Given the description of an element on the screen output the (x, y) to click on. 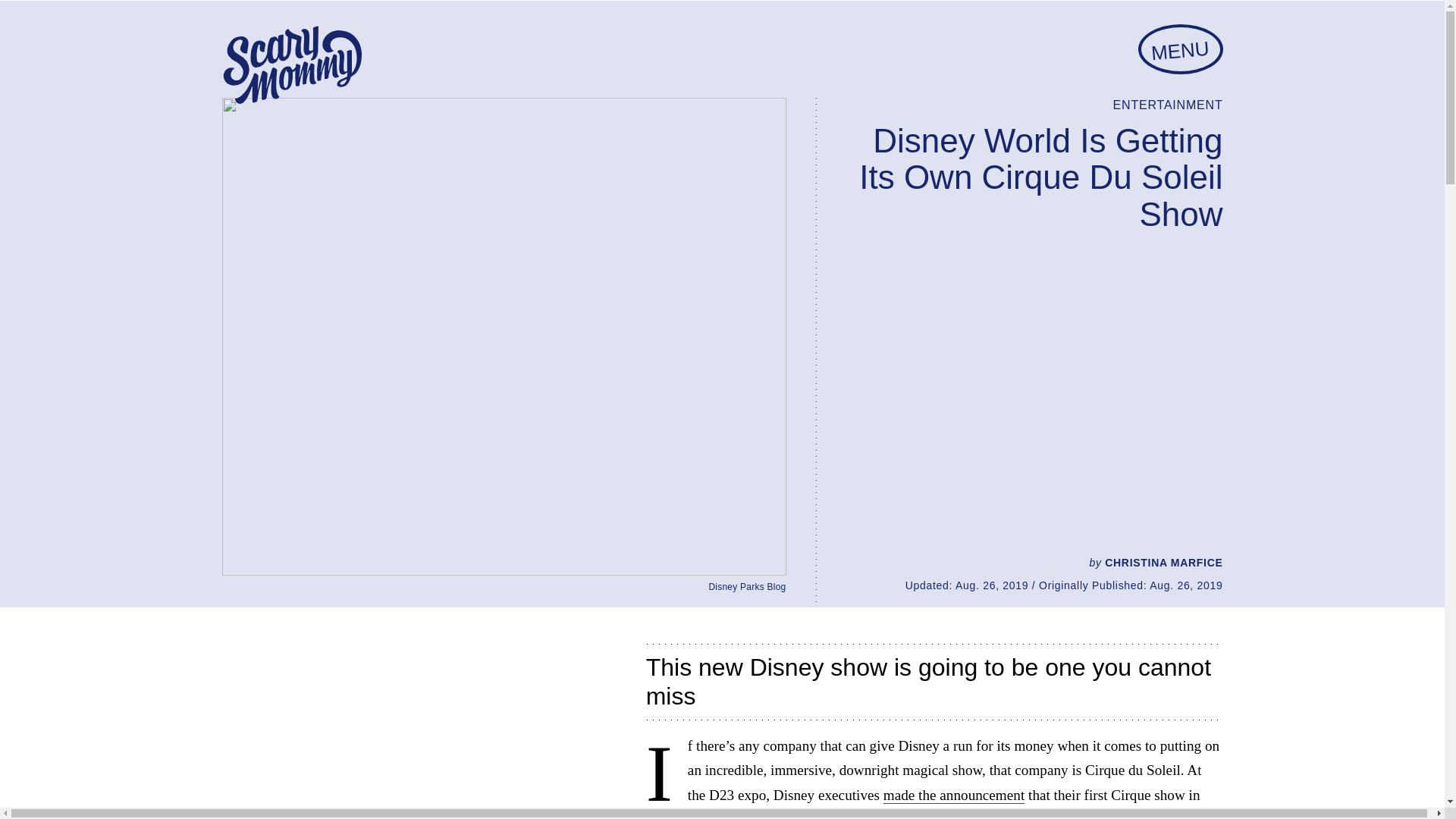
Scary Mommy (291, 64)
made the announcement (954, 795)
